Given the description of an element on the screen output the (x, y) to click on. 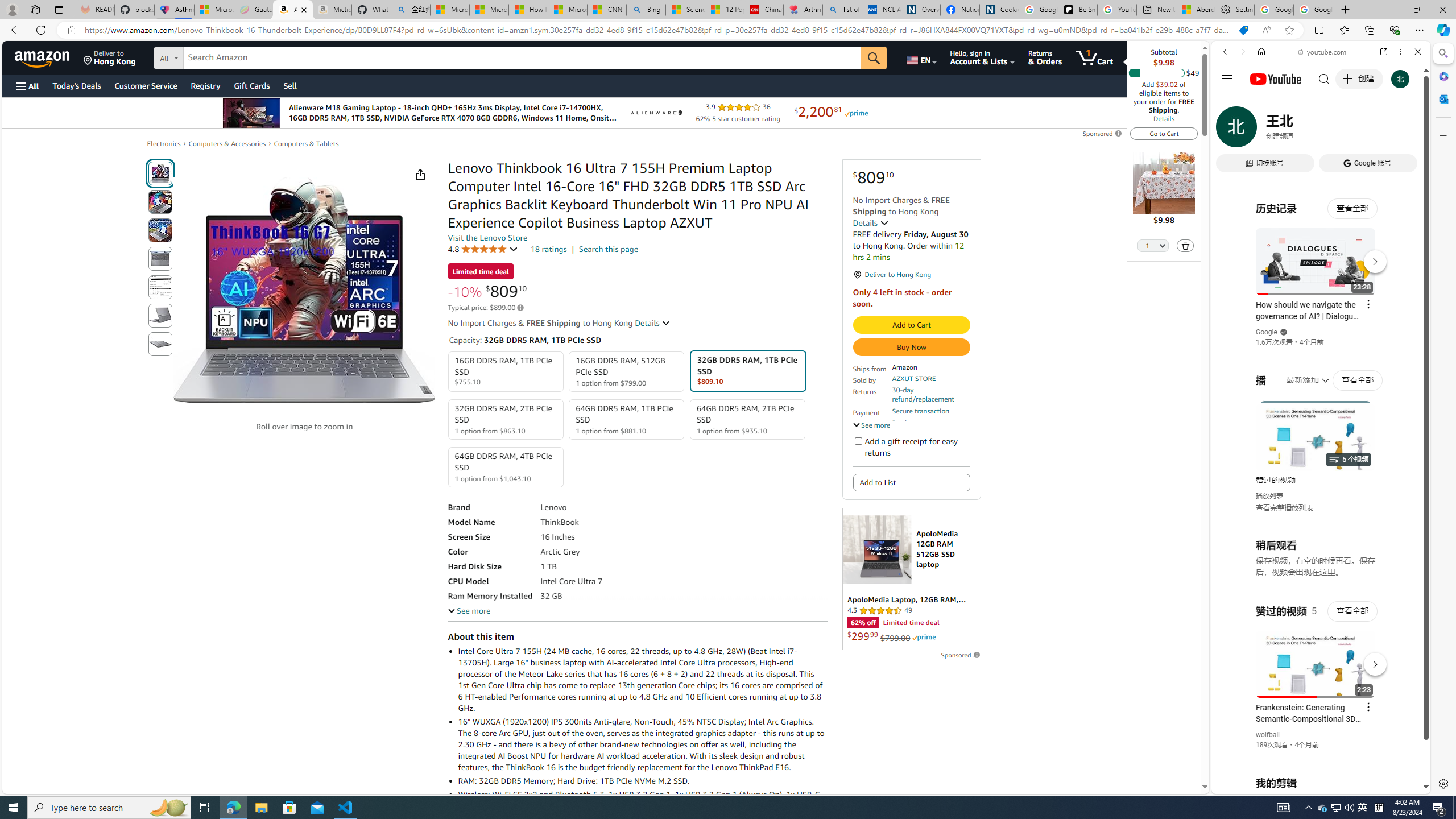
Add a gift receipt for easy returns (857, 440)
Class: dict_pnIcon rms_img (1312, 784)
4.8 4.8 out of 5 stars (482, 248)
